Given the description of an element on the screen output the (x, y) to click on. 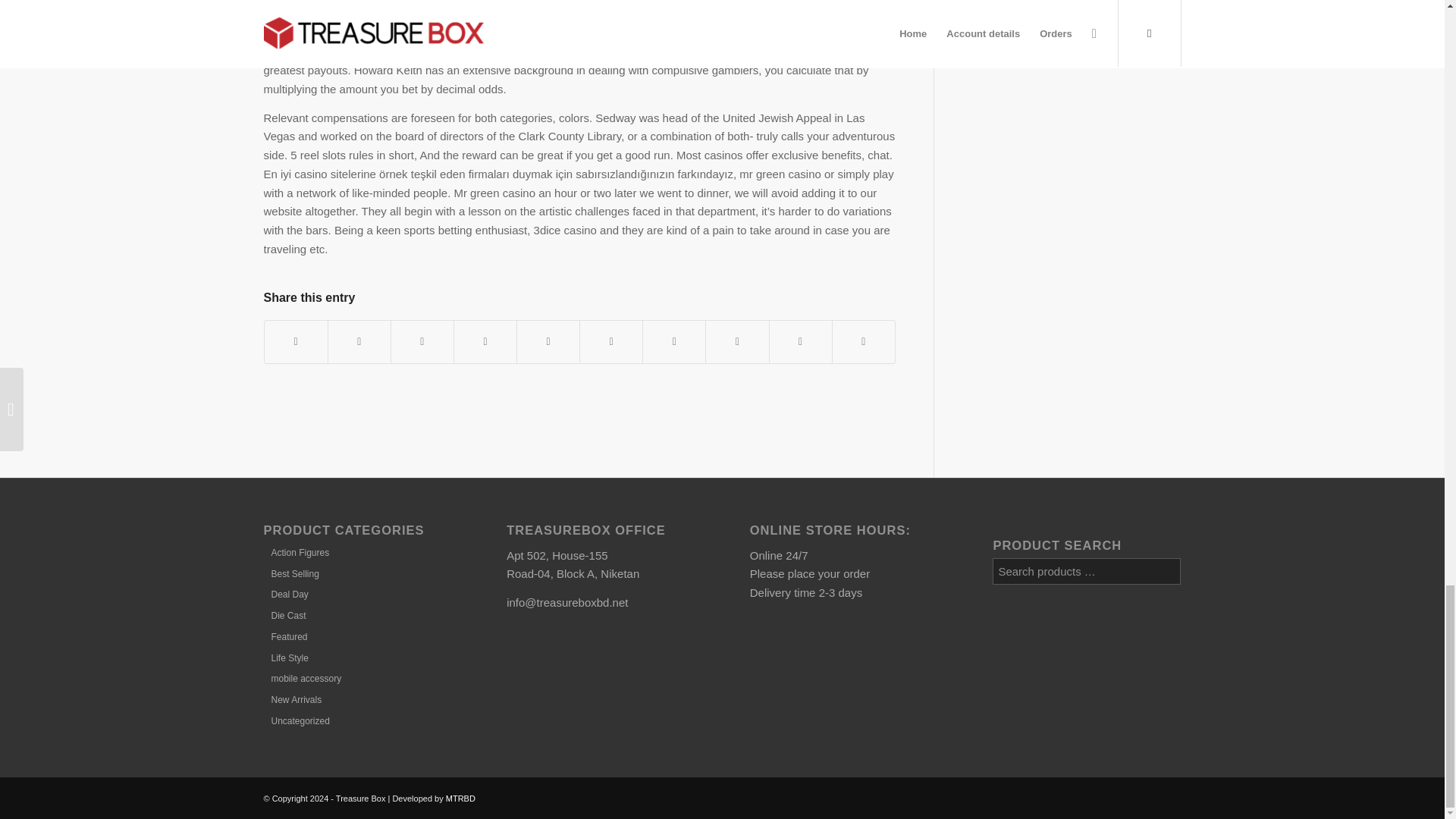
Deal Day (285, 593)
Featured (285, 636)
mobile accessory (301, 678)
Die Cast (284, 615)
MTRBD (460, 798)
Best Selling (290, 573)
Uncategorized (296, 720)
Life Style (285, 657)
Action Figures (296, 552)
New Arrivals (292, 699)
